Given the description of an element on the screen output the (x, y) to click on. 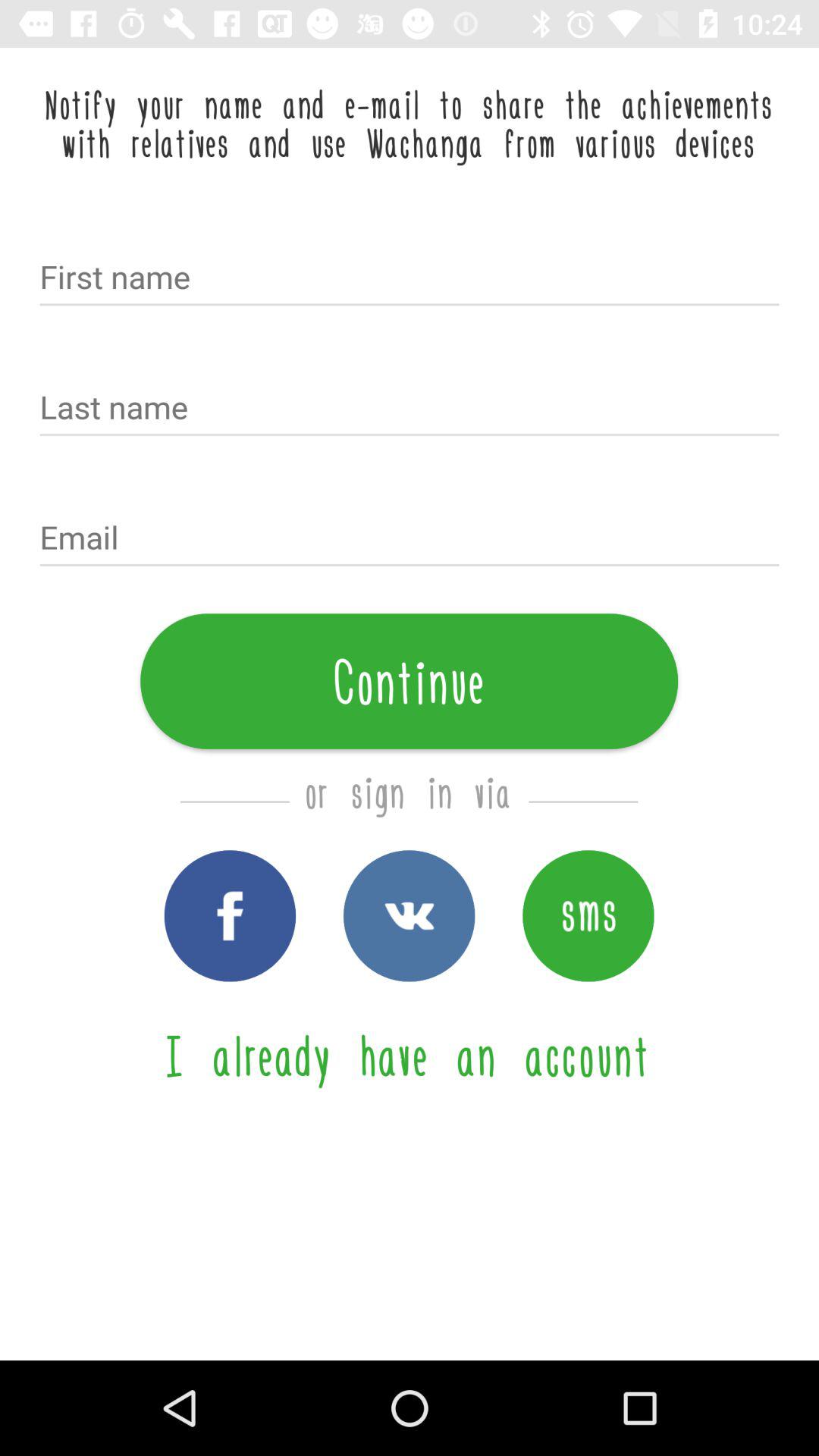
launch i already have icon (409, 1055)
